Given the description of an element on the screen output the (x, y) to click on. 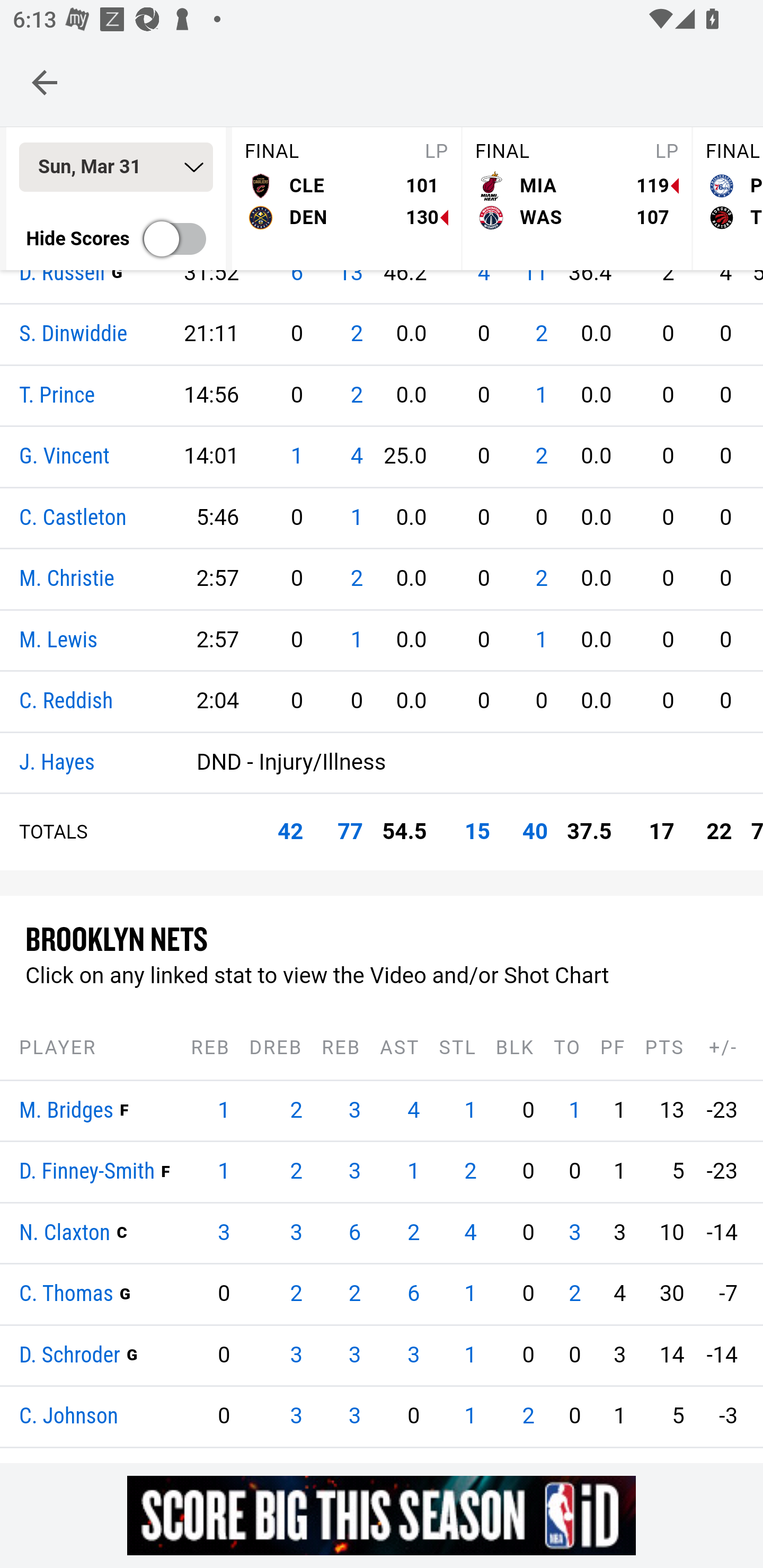
Navigate up (44, 82)
Sun, Mar 31 (115, 168)
S. Dinwiddie S .  Dinwiddie (73, 335)
2 (356, 334)
2 (541, 334)
T. Prince T .  Prince (57, 395)
2 (356, 395)
1 (541, 395)
G. Vincent G .  Vincent (64, 457)
1 (296, 456)
4 (356, 456)
2 (541, 456)
C. Castleton C .  Castleton (73, 518)
1 (356, 518)
M. Christie M .  Christie (66, 580)
2 (356, 579)
2 (541, 579)
M. Lewis M .  Lewis (58, 640)
1 (356, 640)
1 (541, 640)
C. Reddish C .  Reddish (66, 702)
J. Hayes J .  Hayes (57, 762)
42 (289, 831)
77 (350, 831)
15 (477, 831)
40 (534, 831)
M. Bridges M .  Bridges (66, 1110)
1 (222, 1110)
2 (296, 1110)
3 (354, 1110)
4 (413, 1110)
1 (469, 1110)
1 (574, 1110)
D. Finney-Smith D .  Finney-Smith (87, 1172)
1 (222, 1171)
2 (296, 1171)
3 (354, 1171)
1 (413, 1171)
2 (469, 1171)
N. Claxton N .  Claxton (65, 1233)
3 (222, 1233)
3 (296, 1233)
6 (354, 1233)
2 (413, 1233)
4 (469, 1233)
3 (574, 1233)
C. Thomas C .  Thomas (66, 1295)
2 (296, 1294)
2 (354, 1294)
6 (413, 1294)
1 (469, 1294)
2 (574, 1294)
D. Schroder D .  Schroder (69, 1355)
3 (296, 1355)
3 (354, 1355)
3 (413, 1355)
1 (469, 1355)
C. Johnson C .  Johnson (69, 1417)
3 (296, 1416)
3 (354, 1416)
1 (469, 1416)
2 (528, 1416)
g5nqqygr7owph (381, 1515)
